Given the description of an element on the screen output the (x, y) to click on. 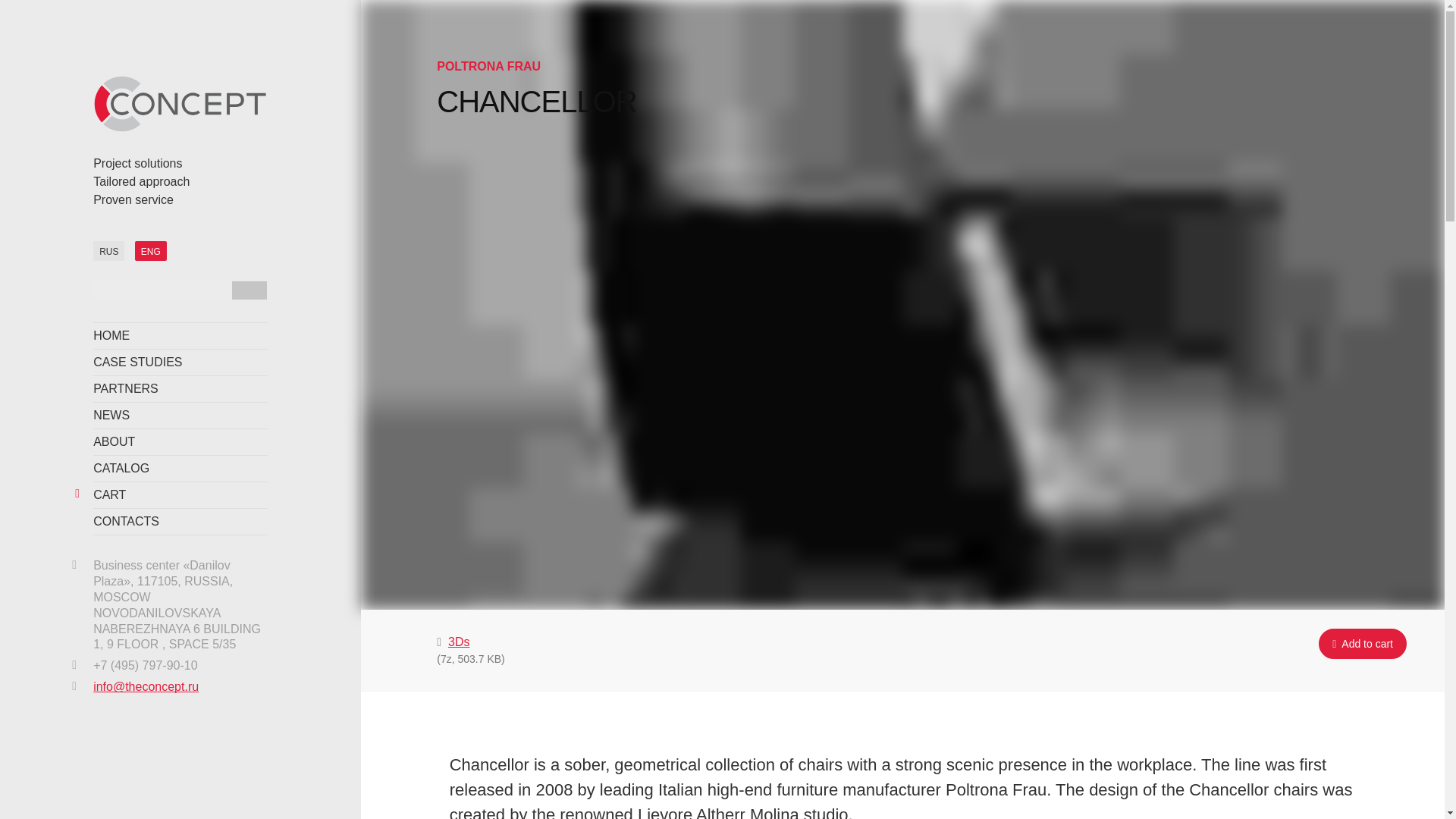
NEWS (180, 415)
PARTNERS (180, 388)
ABOUT (180, 442)
HOME (180, 335)
ENG (151, 250)
  Add to cart (1362, 643)
RUS (108, 250)
CASE STUDIES (180, 362)
CONTACTS (180, 521)
CATALOG (180, 468)
